Given the description of an element on the screen output the (x, y) to click on. 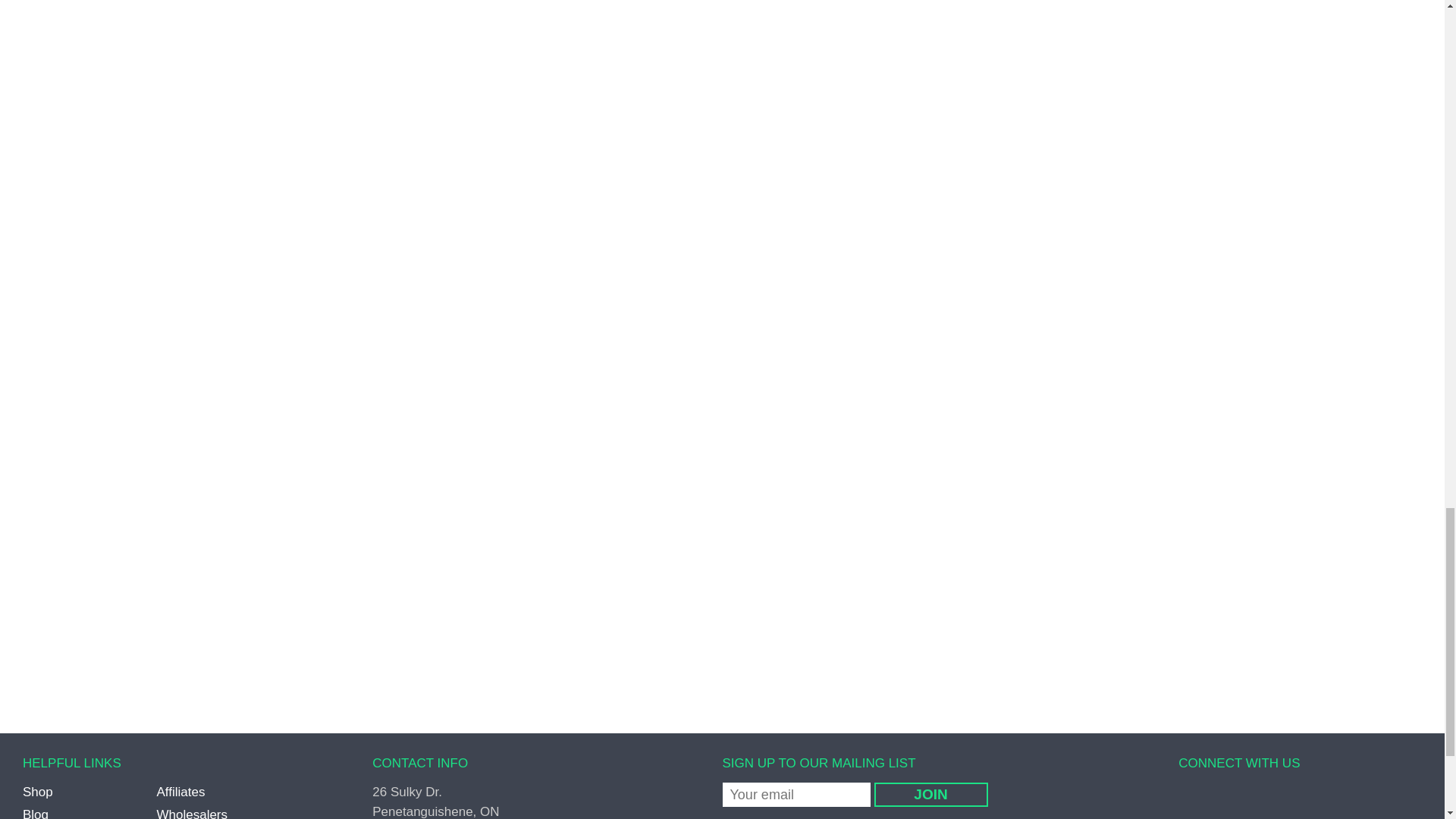
RIPT Skin Systems on Twitter (1209, 801)
Shop (37, 791)
RIPT Skin Systems on Youtube (1292, 801)
Wholesalers (191, 813)
Affiliates (180, 791)
RIPT Skin Systems on Pinterest (1234, 801)
Blog (35, 813)
join (930, 794)
